Given the description of an element on the screen output the (x, y) to click on. 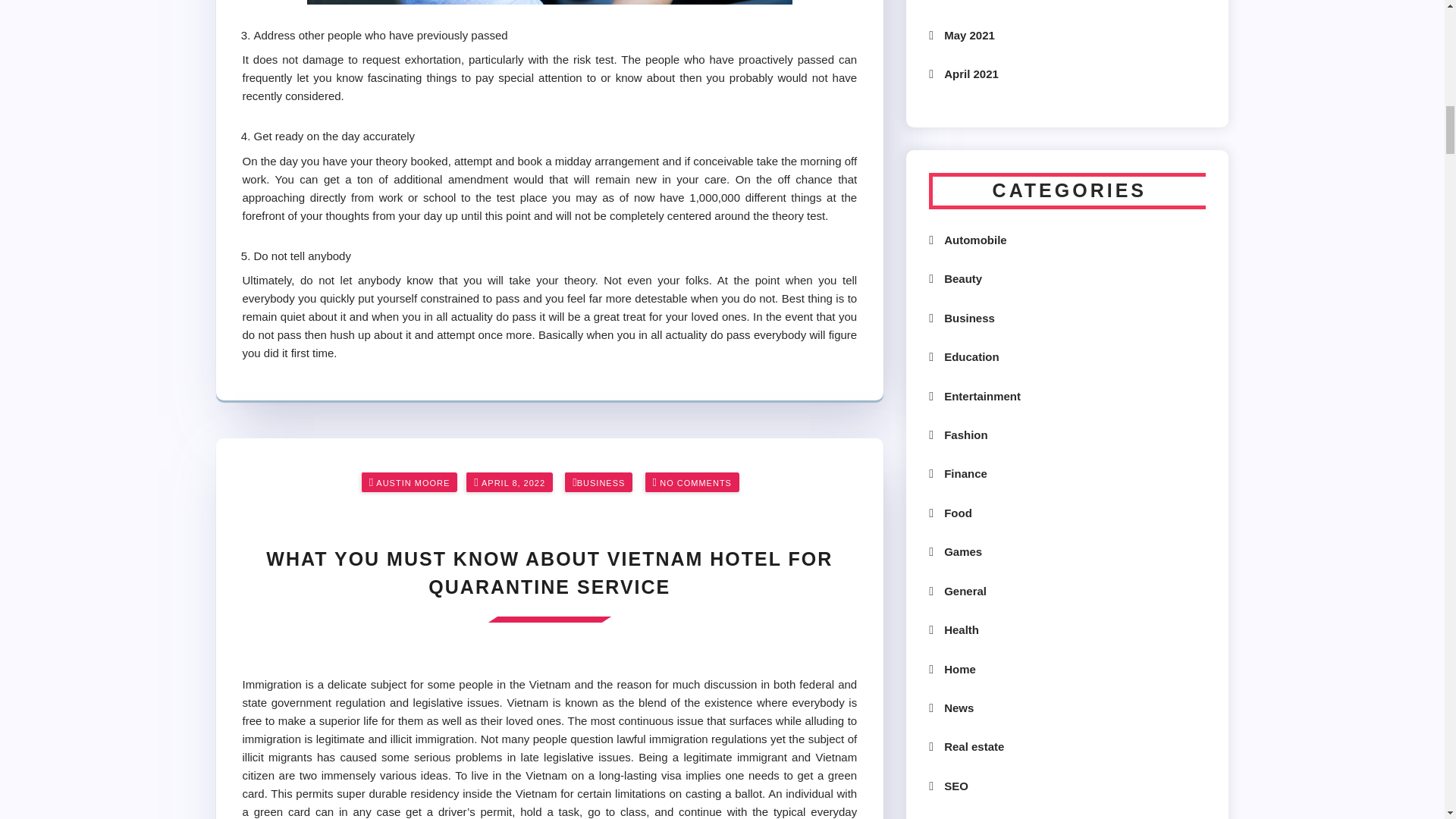
BUSINESS (601, 483)
NO COMMENTS (695, 483)
AUSTIN MOORE (412, 483)
APRIL 8, 2022 (512, 483)
